Given the description of an element on the screen output the (x, y) to click on. 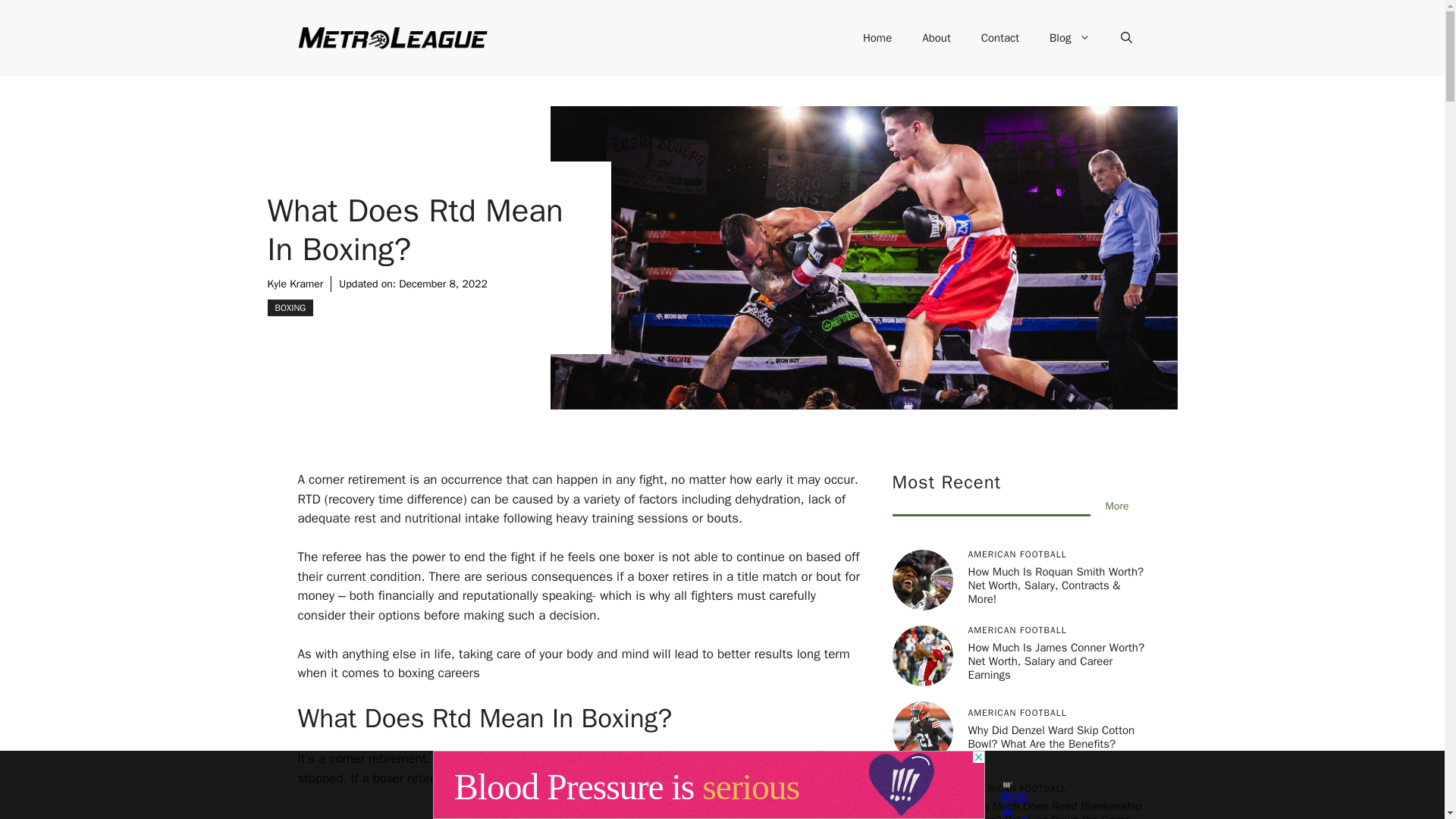
Kyle Kramer (294, 283)
More (1117, 505)
Blog (1069, 37)
Contact (999, 37)
BOXING (289, 307)
Home (877, 37)
3rd party ad content (579, 812)
About (936, 37)
3rd party ad content (708, 785)
